Given the description of an element on the screen output the (x, y) to click on. 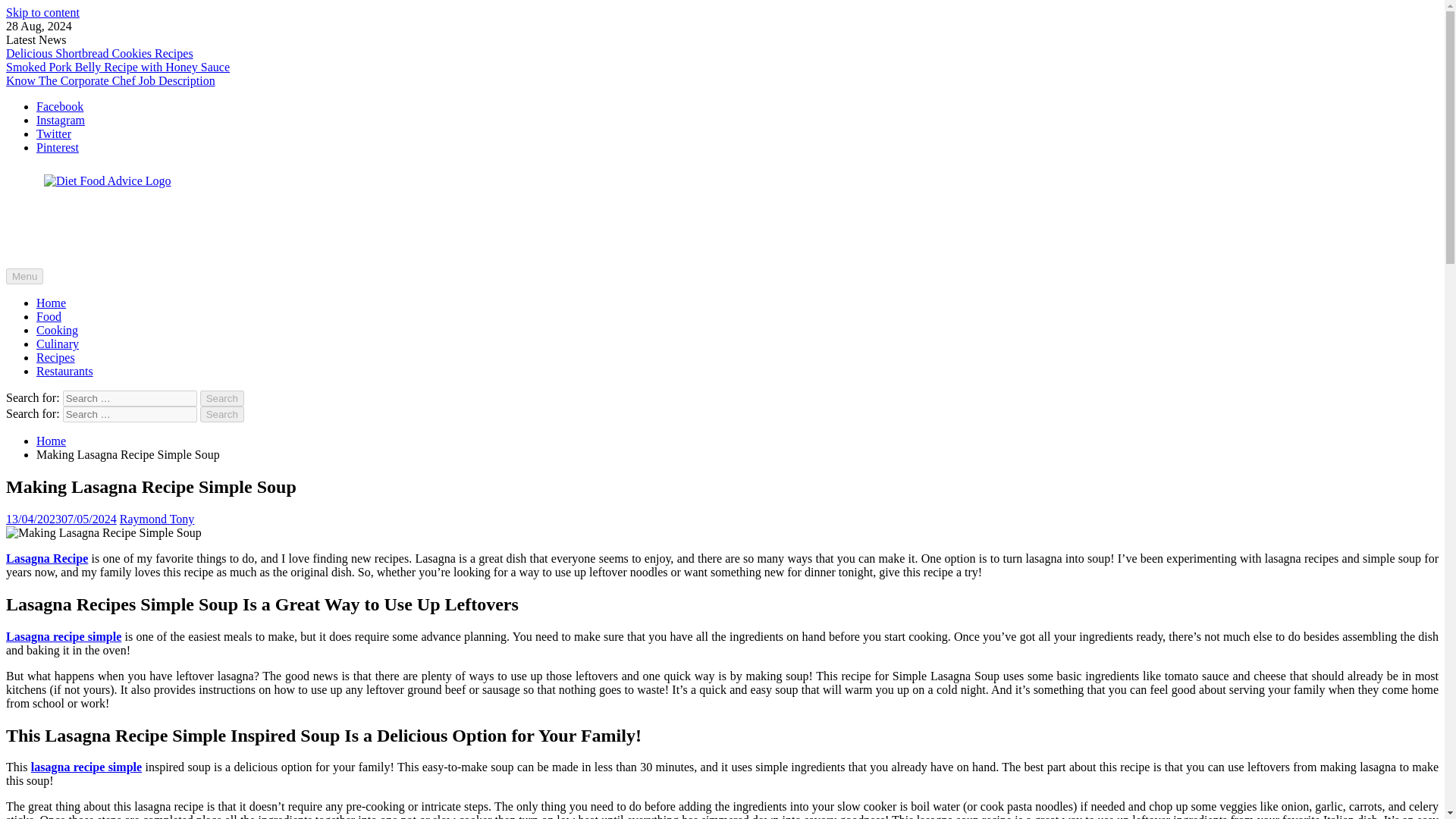
Raymond Tony (157, 518)
lasagna recipe simple (85, 766)
Twitter (53, 133)
Menu (24, 276)
Cooking (57, 329)
Instagram (60, 119)
Smoked Pork Belly Recipe with Honey Sauce (117, 66)
Search (222, 414)
Home (50, 302)
Know The Corporate Chef Job Description (110, 80)
